Given the description of an element on the screen output the (x, y) to click on. 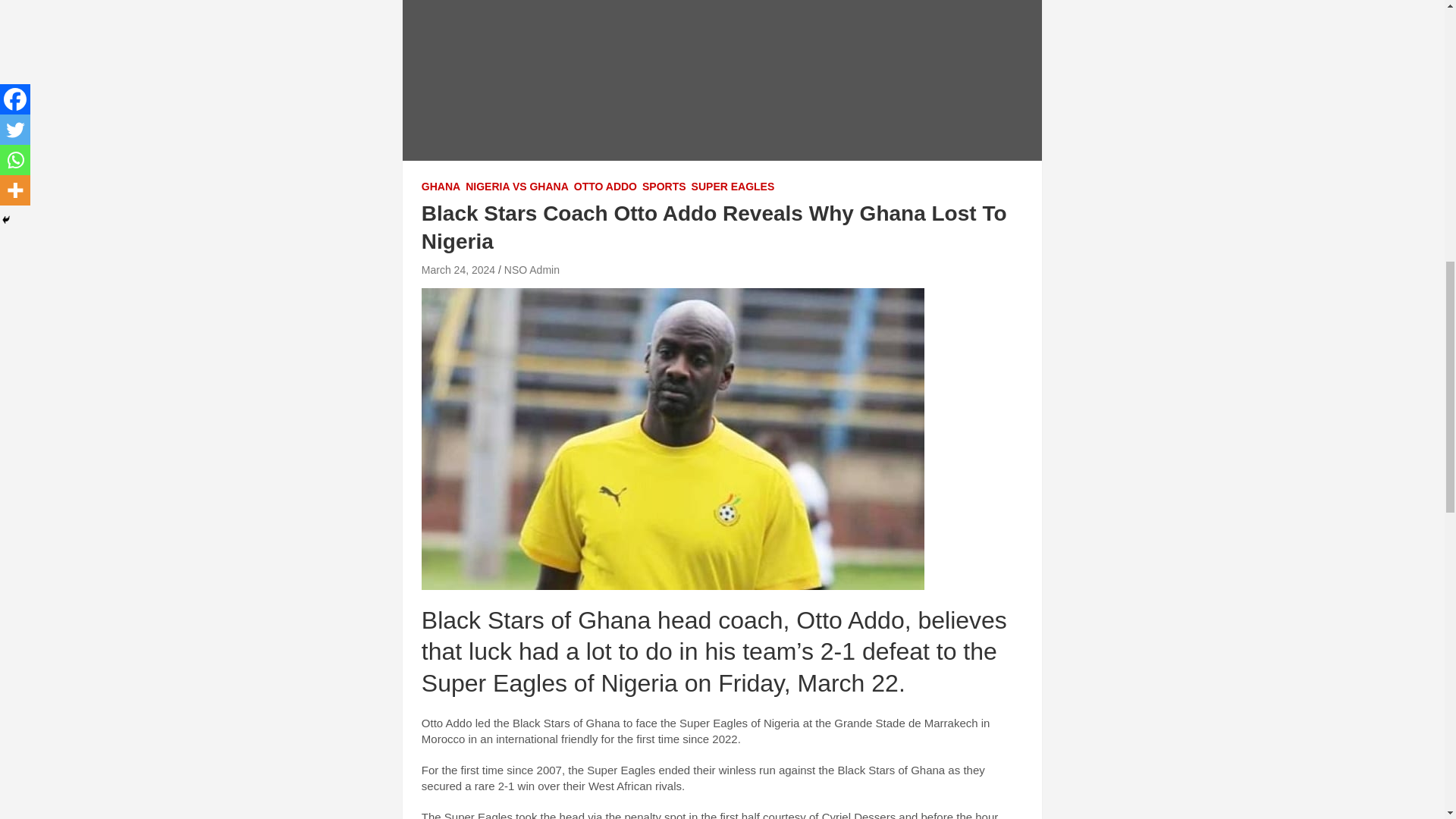
NSO Admin (531, 269)
NIGERIA VS GHANA (517, 186)
SPORTS (663, 186)
GHANA (441, 186)
OTTO ADDO (605, 186)
SUPER EAGLES (732, 186)
March 24, 2024 (458, 269)
